Given the description of an element on the screen output the (x, y) to click on. 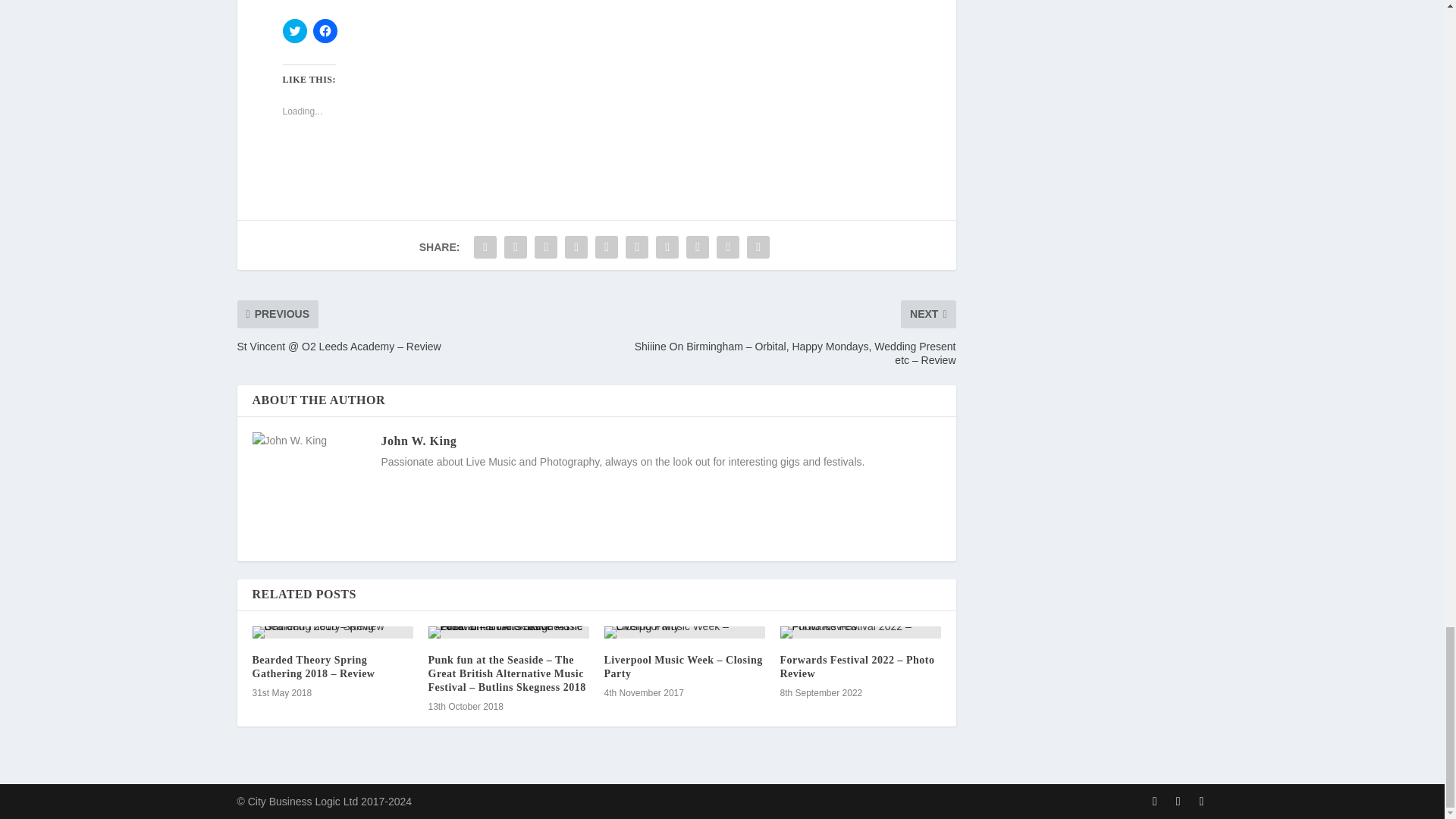
Click to share on Facebook (324, 30)
John W. King (418, 440)
Click to share on Twitter (293, 30)
